Given the description of an element on the screen output the (x, y) to click on. 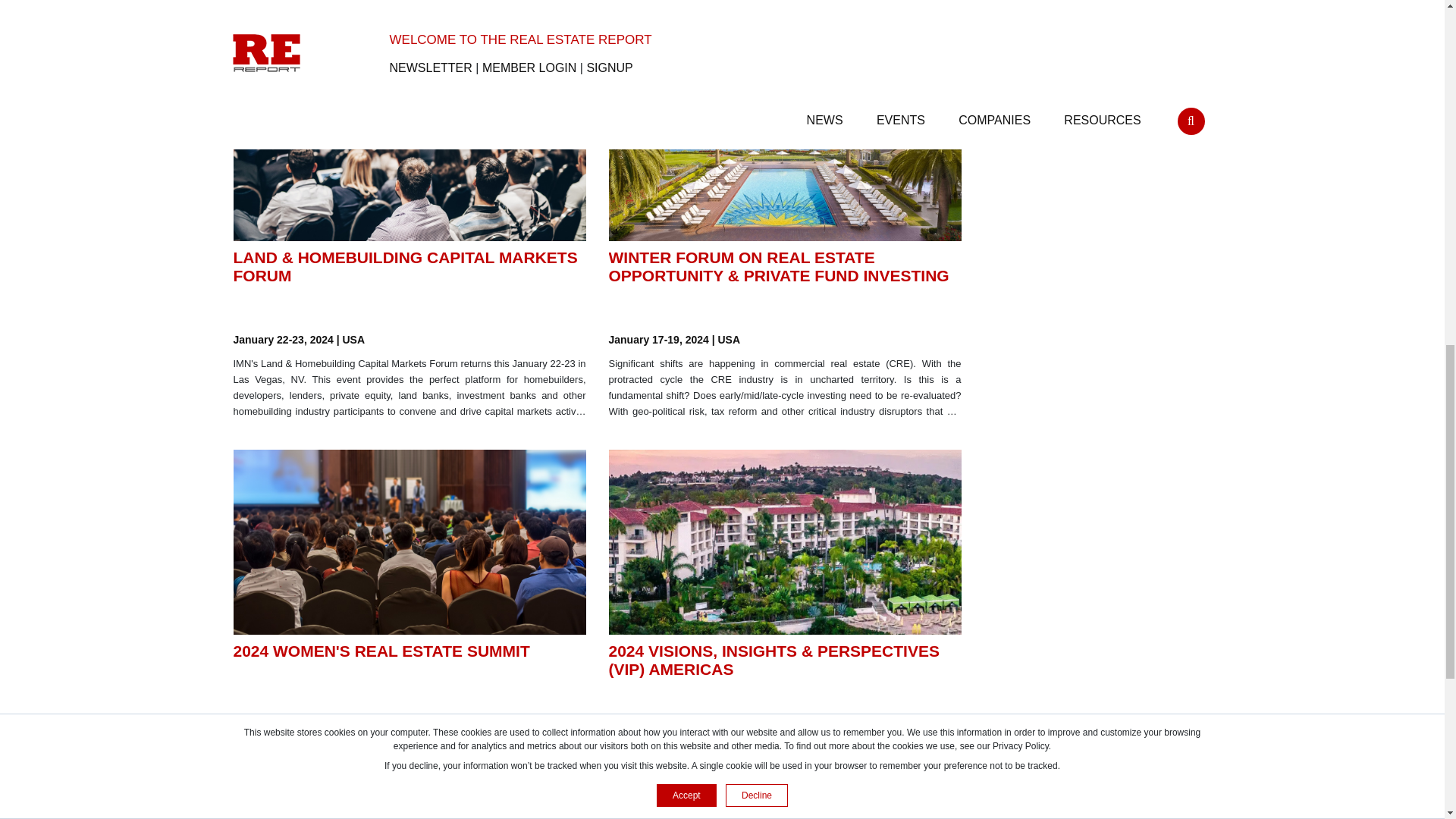
Advertisement (1094, 84)
